Given the description of an element on the screen output the (x, y) to click on. 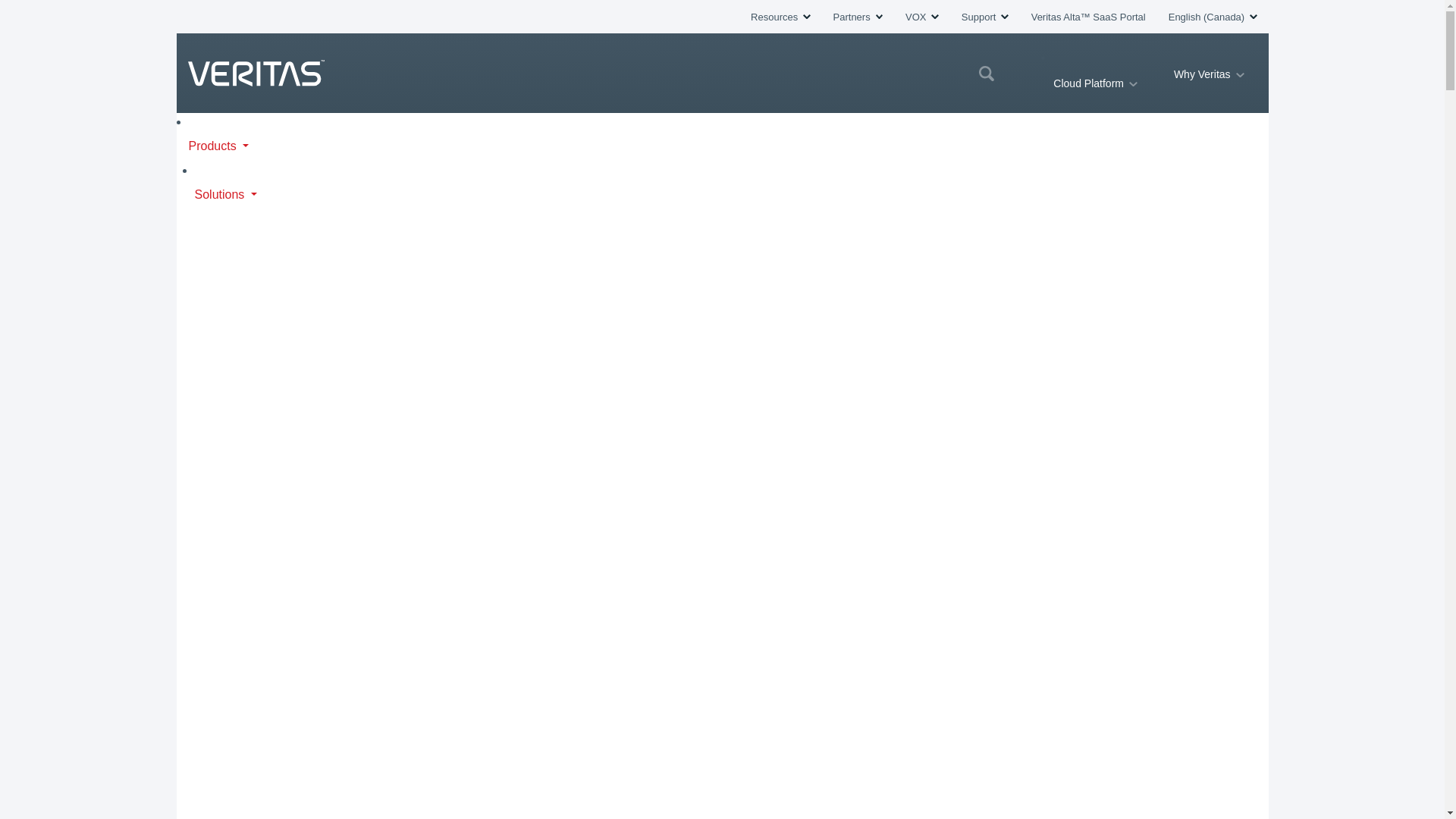
VOX (922, 16)
Resources (780, 16)
Support (984, 16)
Partners (857, 16)
